Given the description of an element on the screen output the (x, y) to click on. 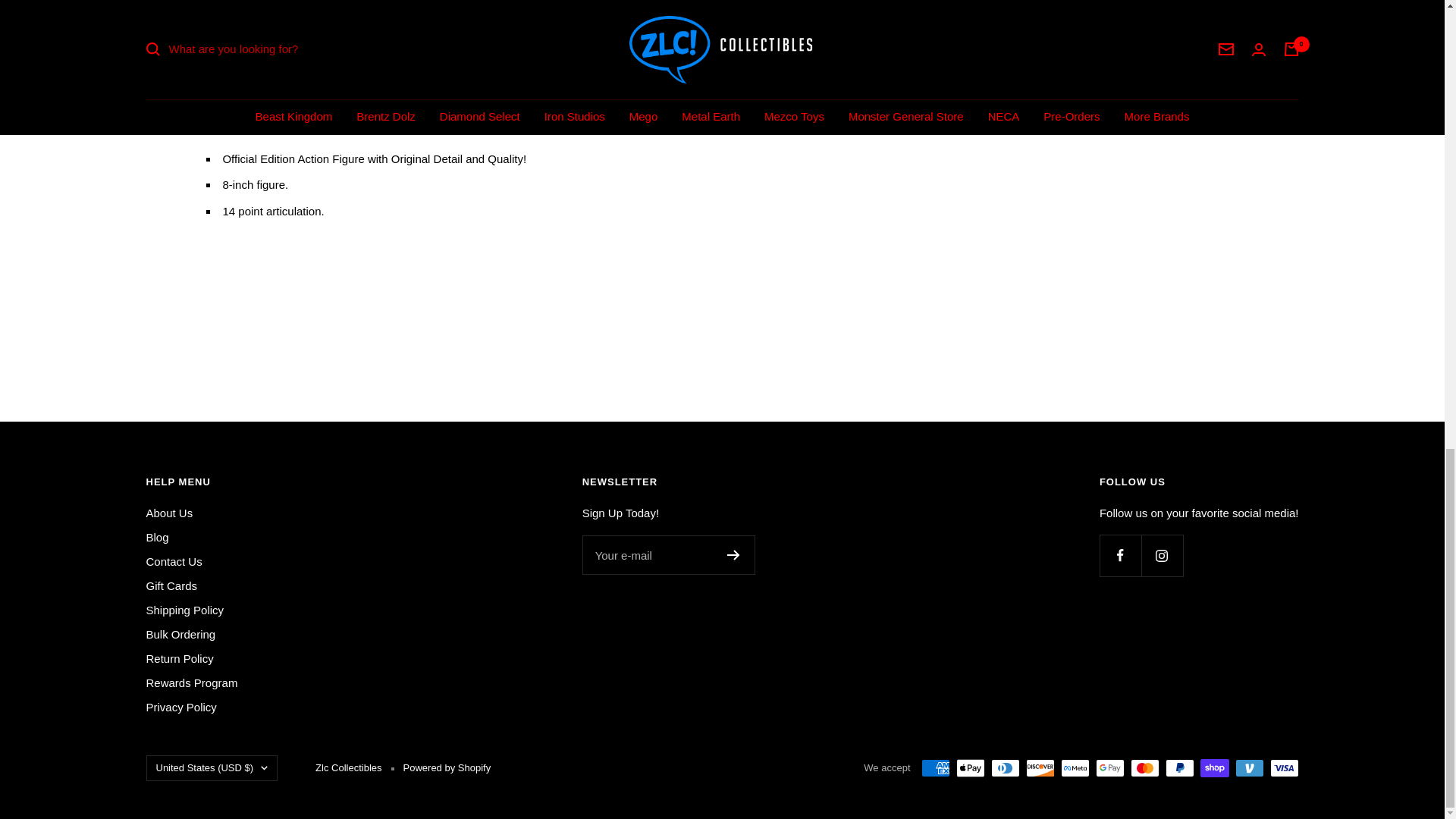
Register (732, 554)
